Given the description of an element on the screen output the (x, y) to click on. 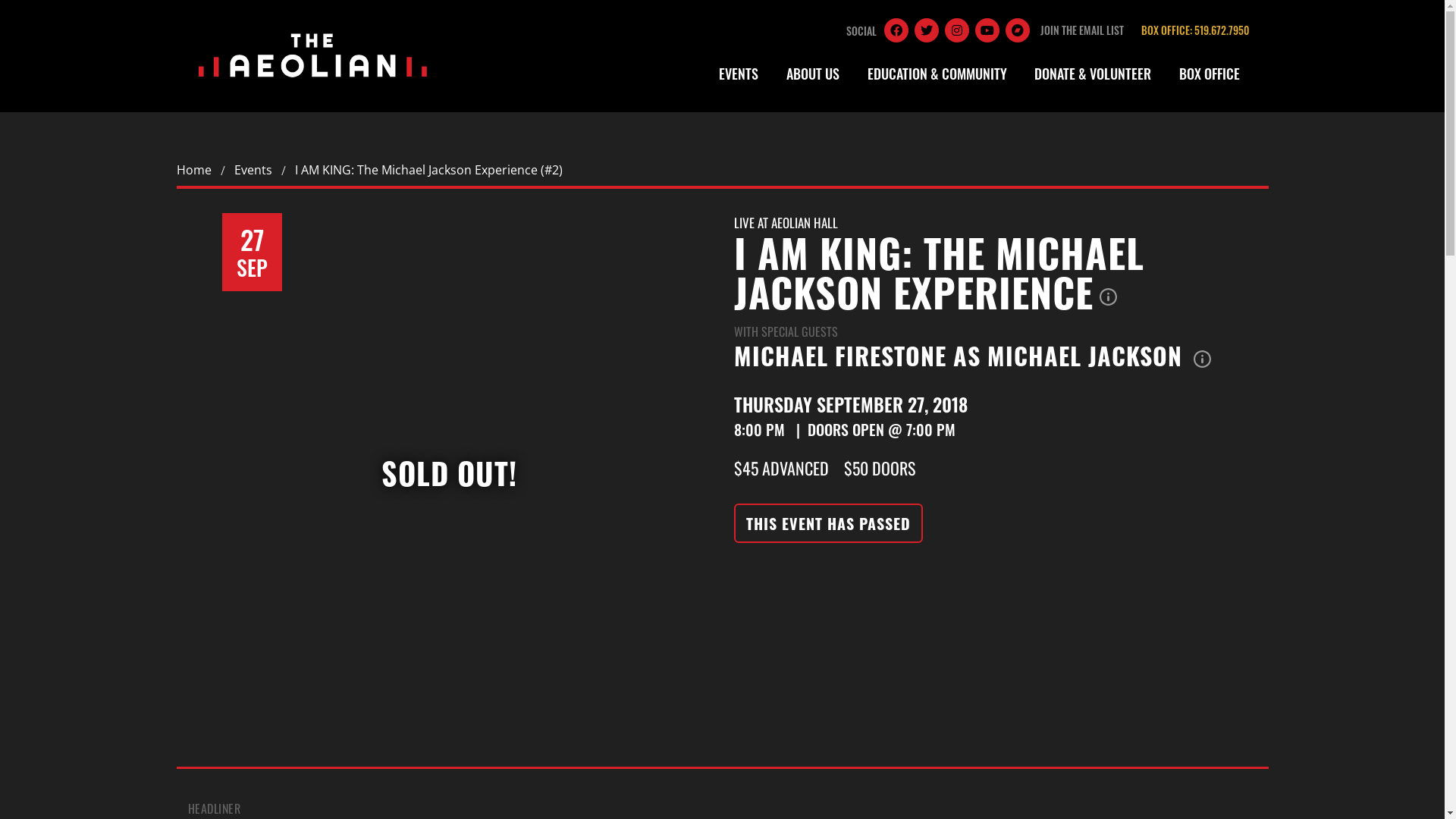
Events Element type: text (252, 170)
BOX OFFICE: 519.672.7950 Element type: text (1194, 29)
BOX OFFICE Element type: text (1209, 74)
Home Element type: text (192, 170)
DONATE & VOLUNTEER Element type: text (1092, 74)
EDUCATION & COMMUNITY Element type: text (936, 74)
EVENTS Element type: text (738, 74)
ABOUT US Element type: text (812, 74)
JOIN THE EMAIL LIST Element type: text (1081, 30)
